Given the description of an element on the screen output the (x, y) to click on. 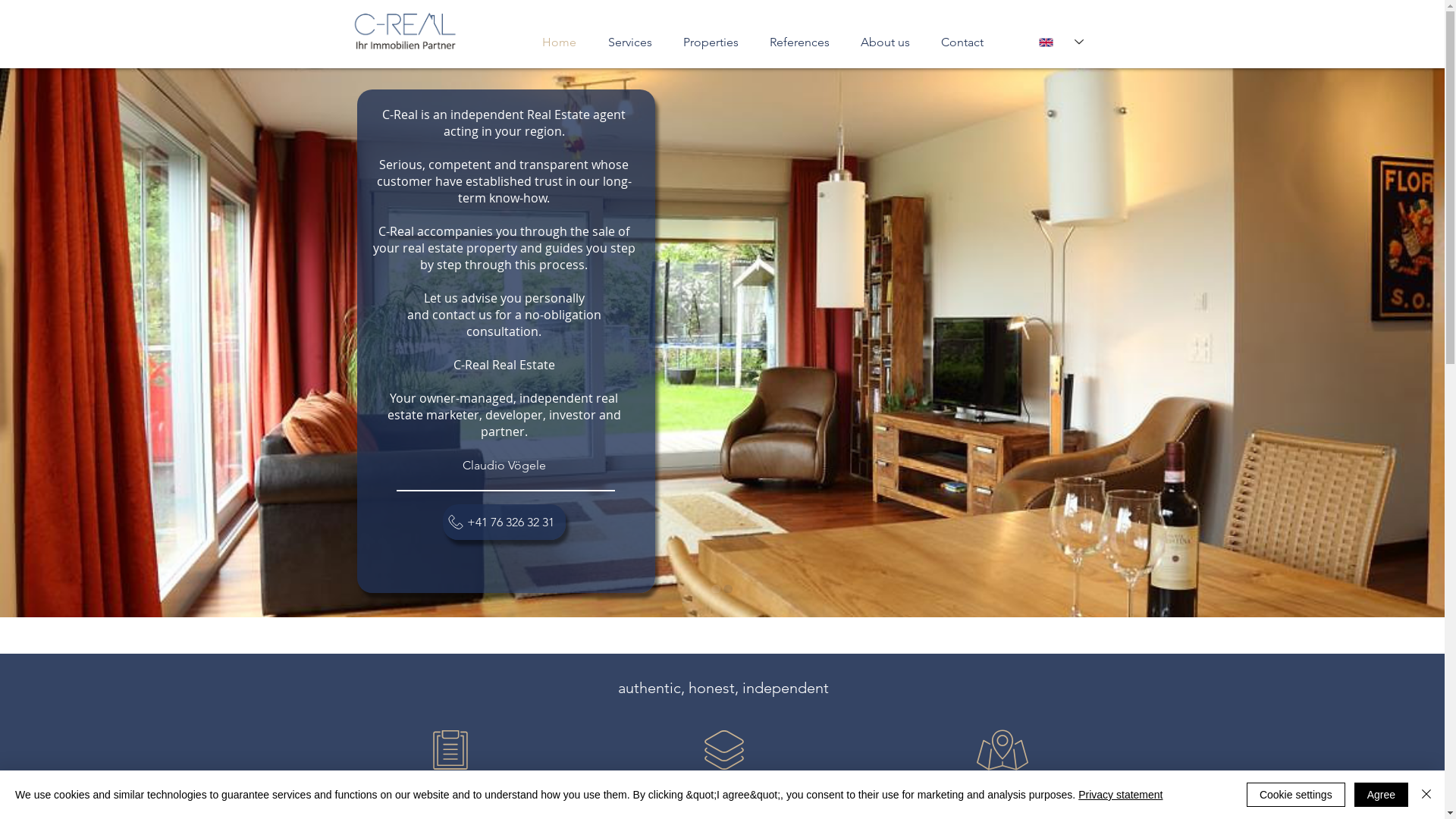
References Element type: text (798, 42)
Privacy statement Element type: text (1120, 794)
Properties Element type: text (710, 42)
Cookie settings Element type: text (1295, 794)
Home Element type: text (559, 42)
Agree Element type: text (1381, 794)
Contact Element type: text (961, 42)
Services Element type: text (629, 42)
About us Element type: text (884, 42)
